Given the description of an element on the screen output the (x, y) to click on. 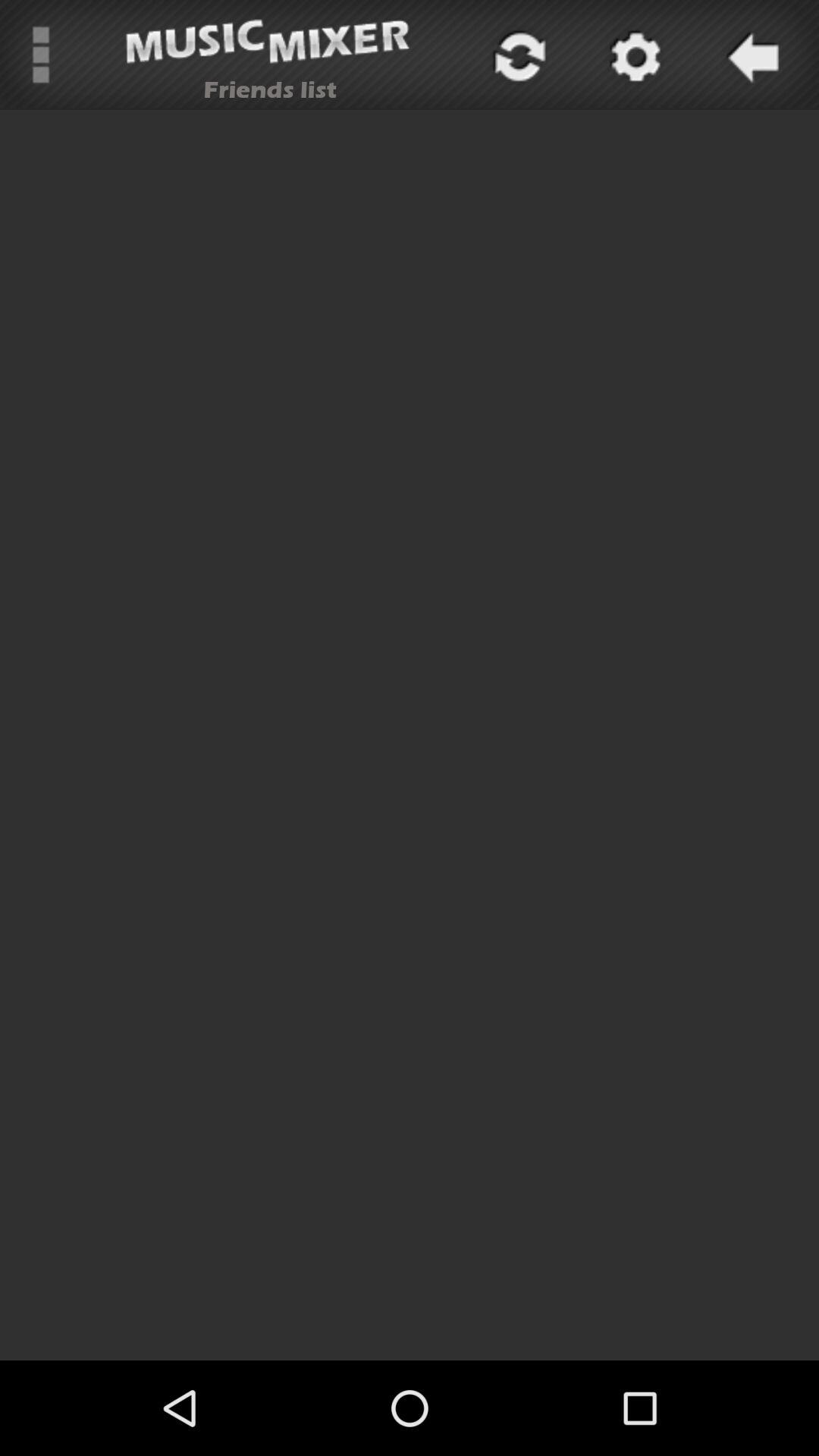
press the icon to the right of friends list item (516, 54)
